Given the description of an element on the screen output the (x, y) to click on. 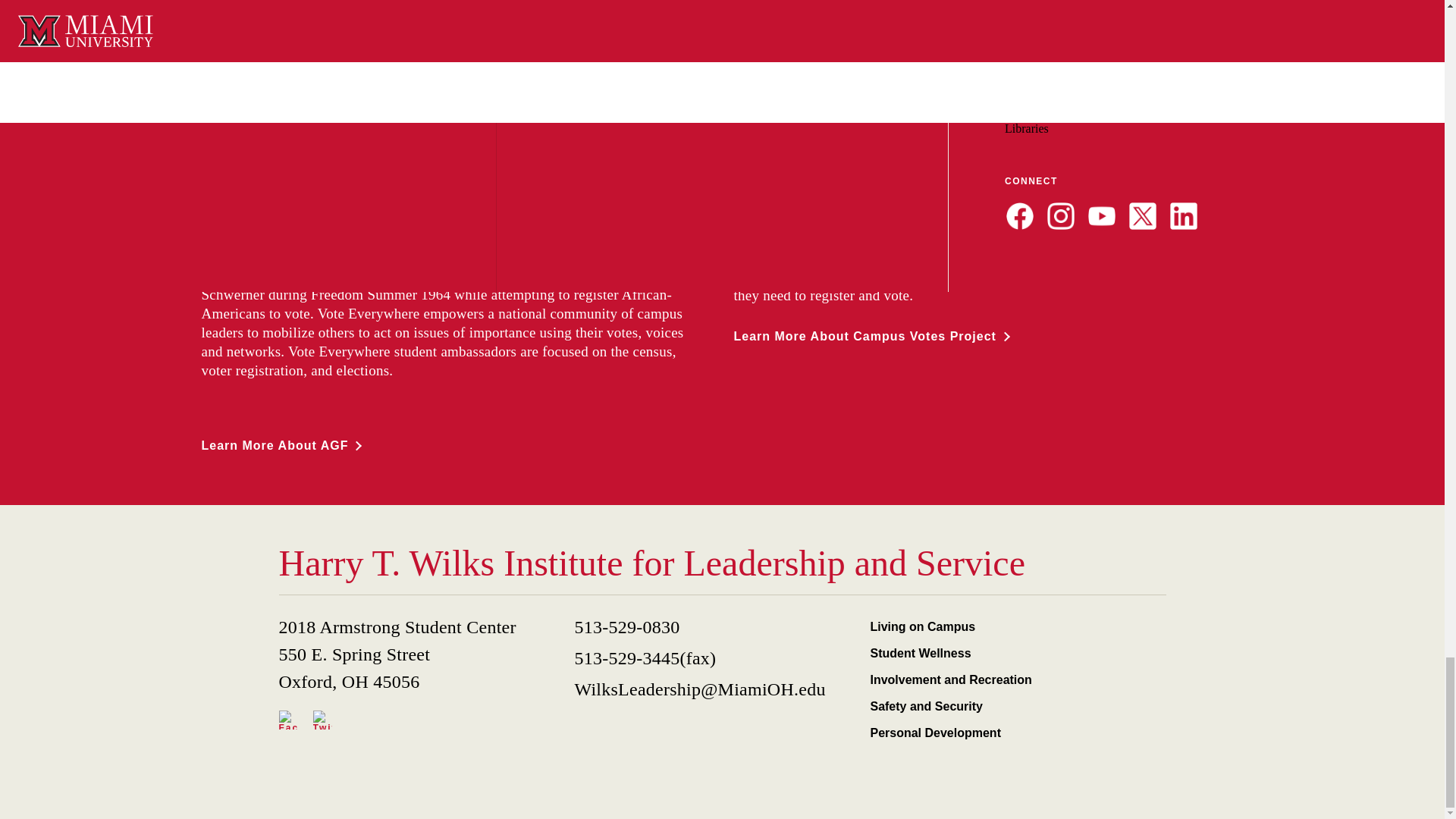
Register To Vote (1163, 52)
Learn More About AGF (281, 445)
Learn More About Campus Votes Project (871, 336)
513-529-0830 (715, 626)
